Given the description of an element on the screen output the (x, y) to click on. 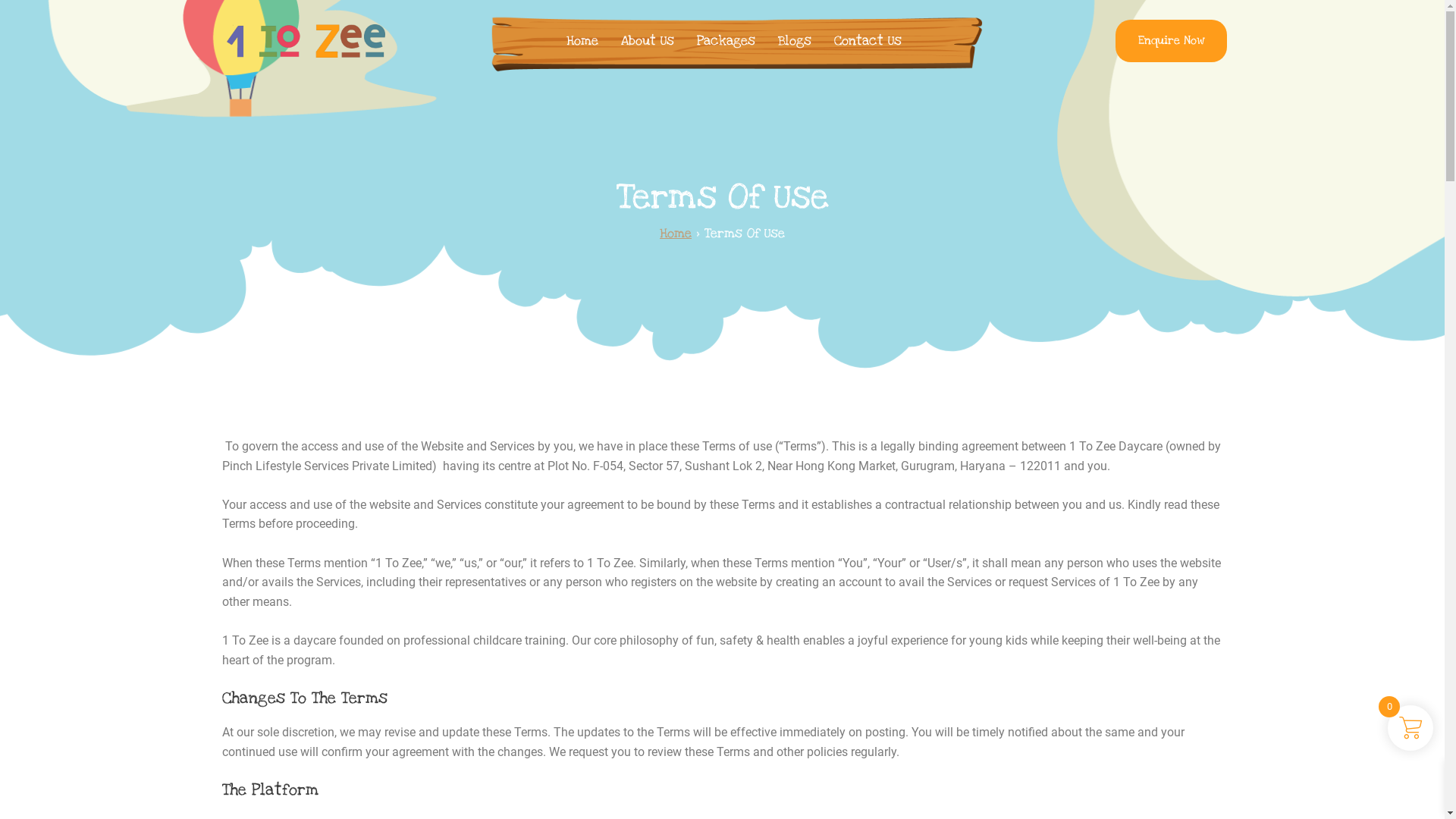
Blogs Element type: text (794, 40)
Enquire Now Element type: text (1170, 40)
Contact Us Element type: text (867, 40)
Home Element type: text (582, 40)
About Us Element type: text (647, 40)
Packages Element type: text (725, 40)
Home Element type: text (675, 232)
